Given the description of an element on the screen output the (x, y) to click on. 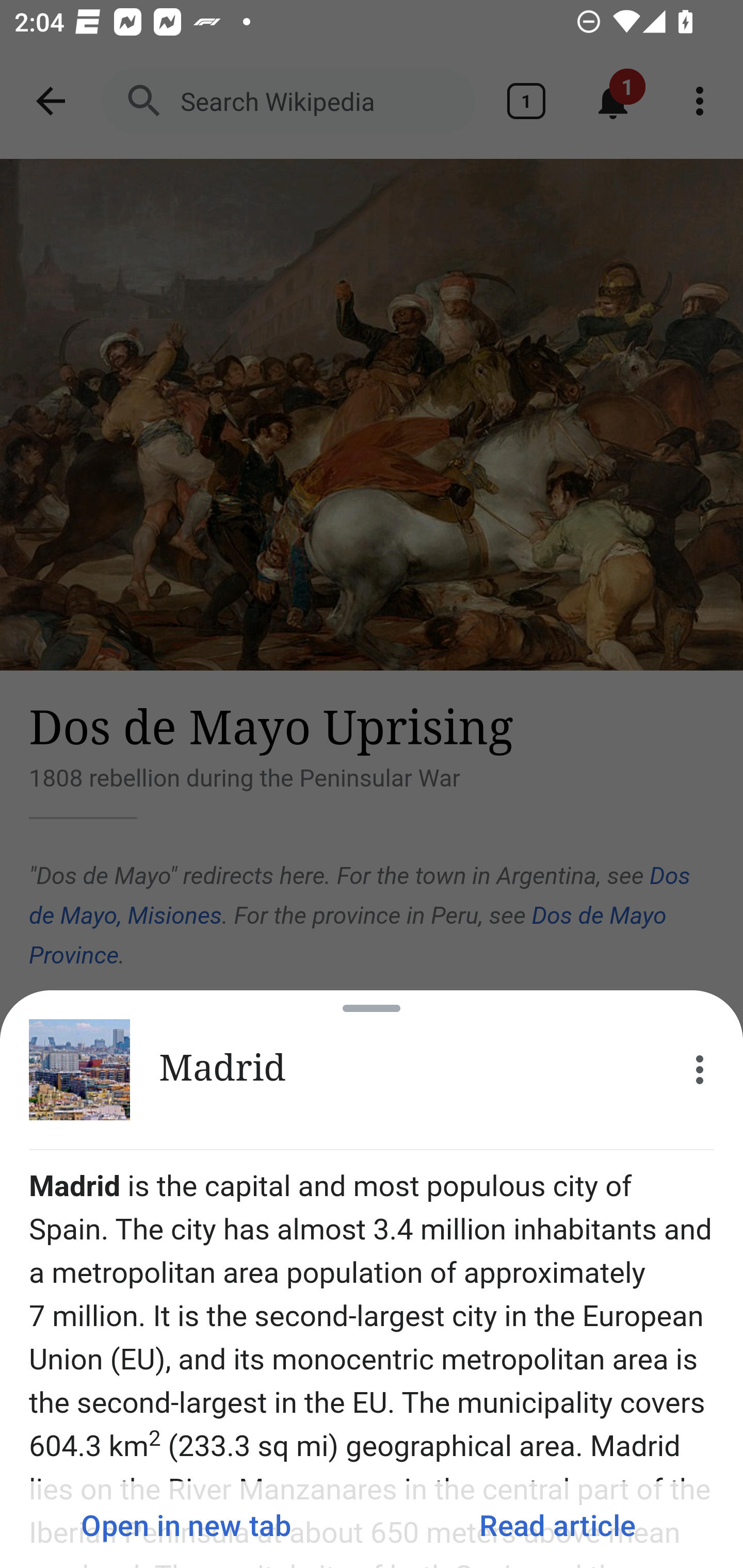
Madrid More options (371, 1069)
More options (699, 1070)
Open in new tab (185, 1524)
Read article (557, 1524)
